Given the description of an element on the screen output the (x, y) to click on. 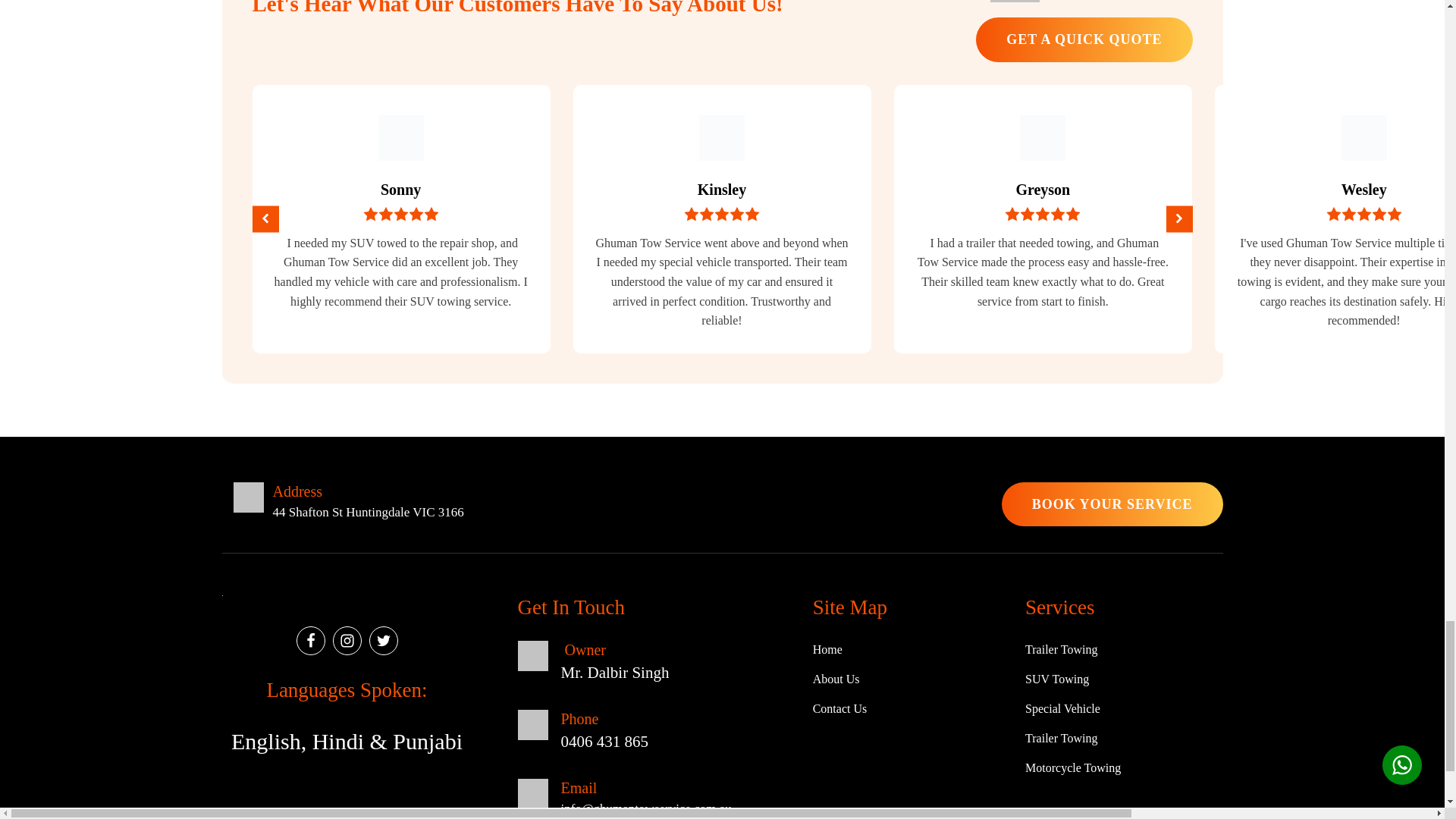
44 Shafton St Huntingdale VIC 3166 (368, 512)
GET A QUICK QUOTE (1083, 39)
0406 431 865 (1121, 1)
BOOK YOUR SERVICE (1112, 504)
